Given the description of an element on the screen output the (x, y) to click on. 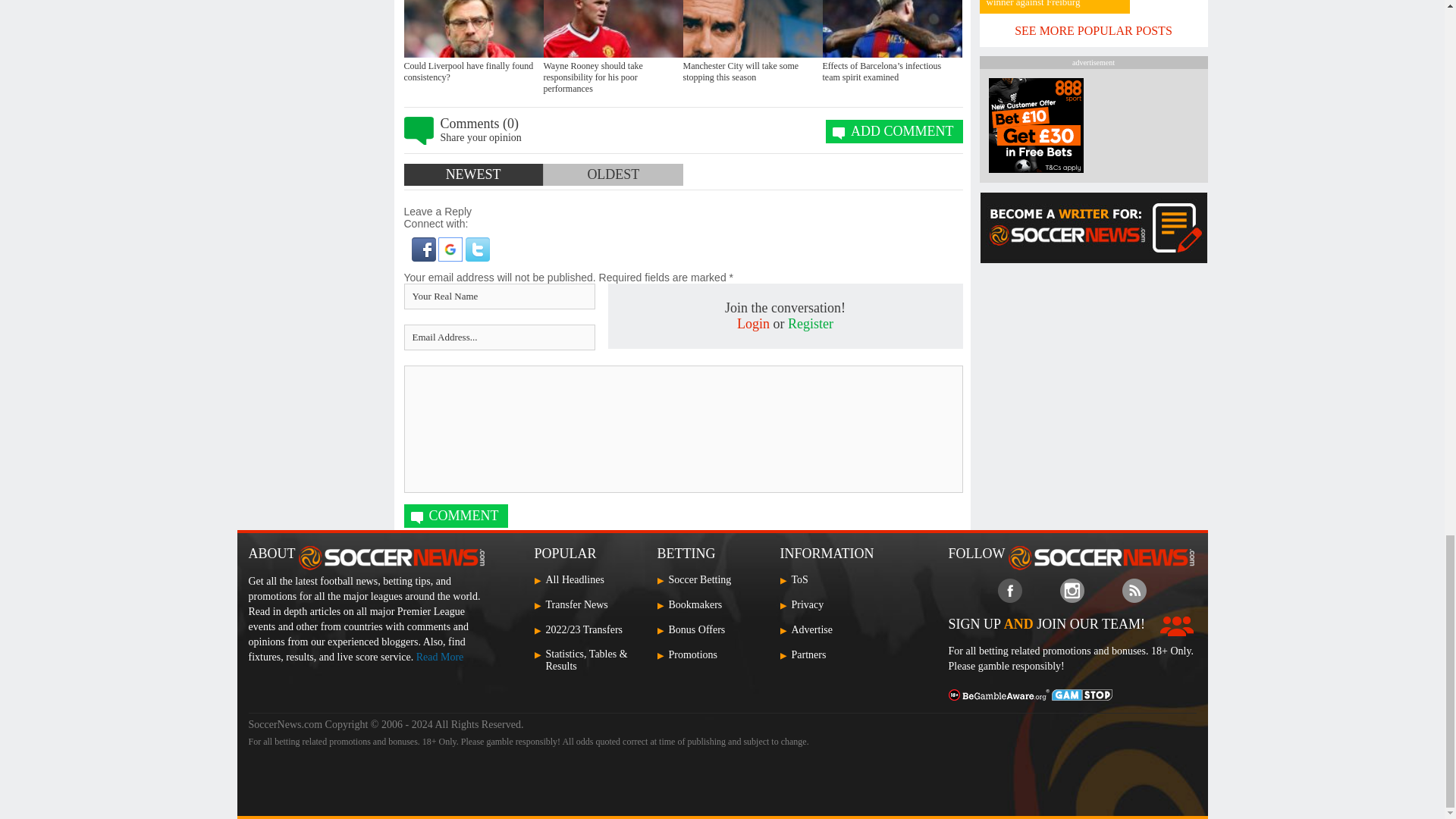
Comment (454, 515)
